Given the description of an element on the screen output the (x, y) to click on. 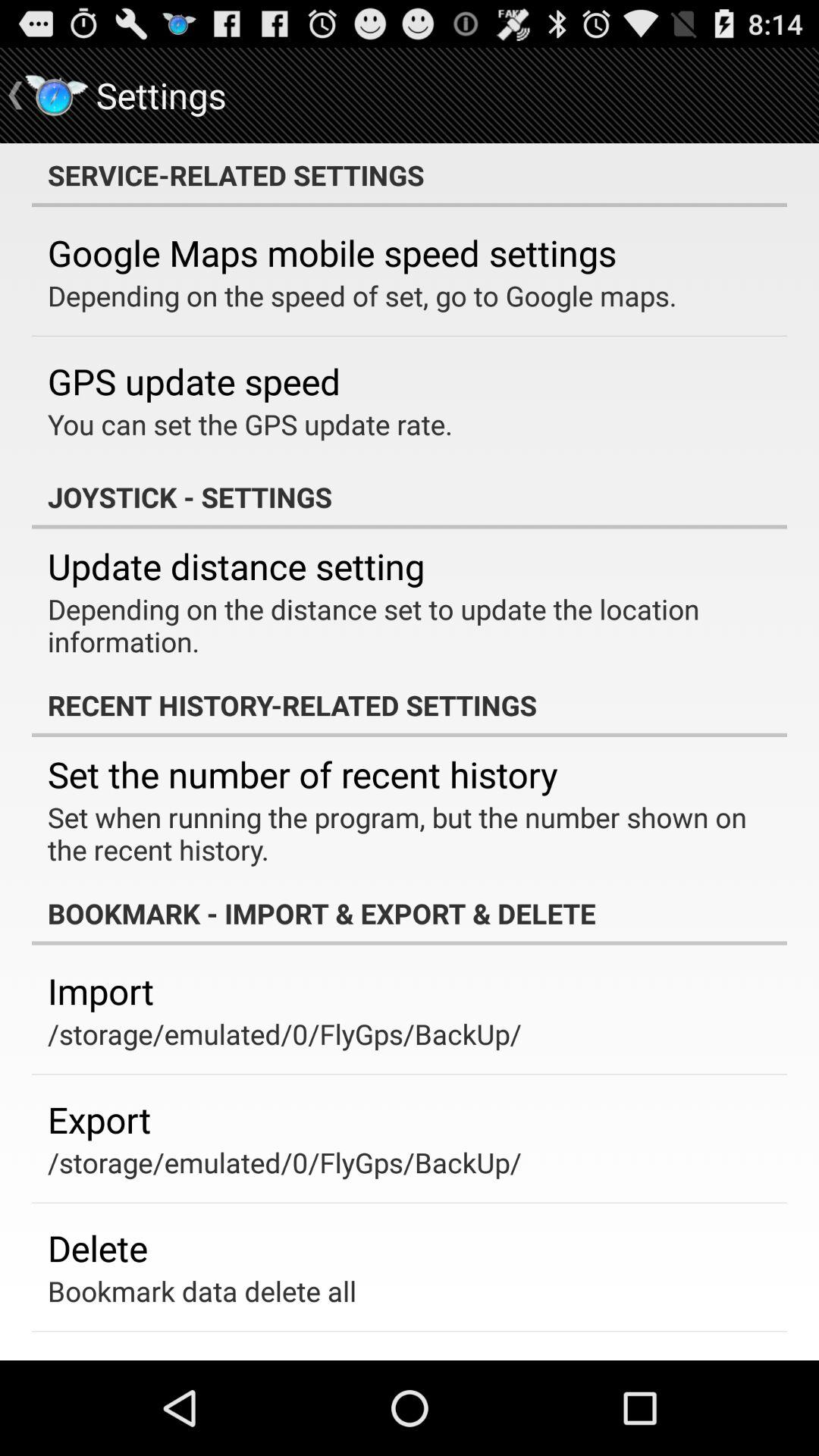
click the item below set the number (399, 833)
